Given the description of an element on the screen output the (x, y) to click on. 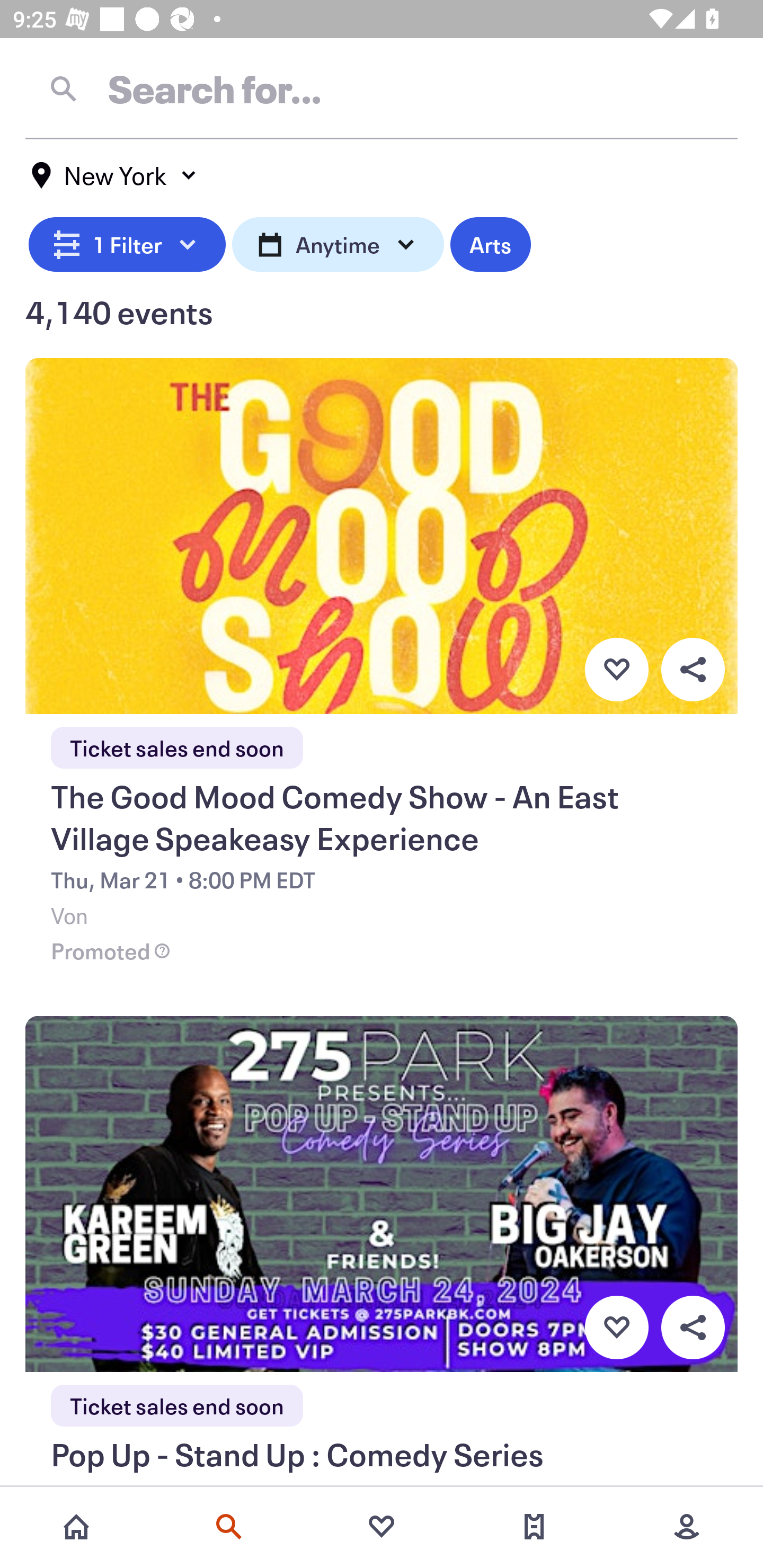
Search for… (381, 88)
New York (114, 175)
1 Filter (126, 241)
Anytime (337, 241)
Arts (490, 241)
Favorite button (616, 669)
Overflow menu button (692, 669)
Favorite button (616, 1326)
Overflow menu button (692, 1326)
Home (76, 1526)
Search events (228, 1526)
Favorites (381, 1526)
Tickets (533, 1526)
More (686, 1526)
